Given the description of an element on the screen output the (x, y) to click on. 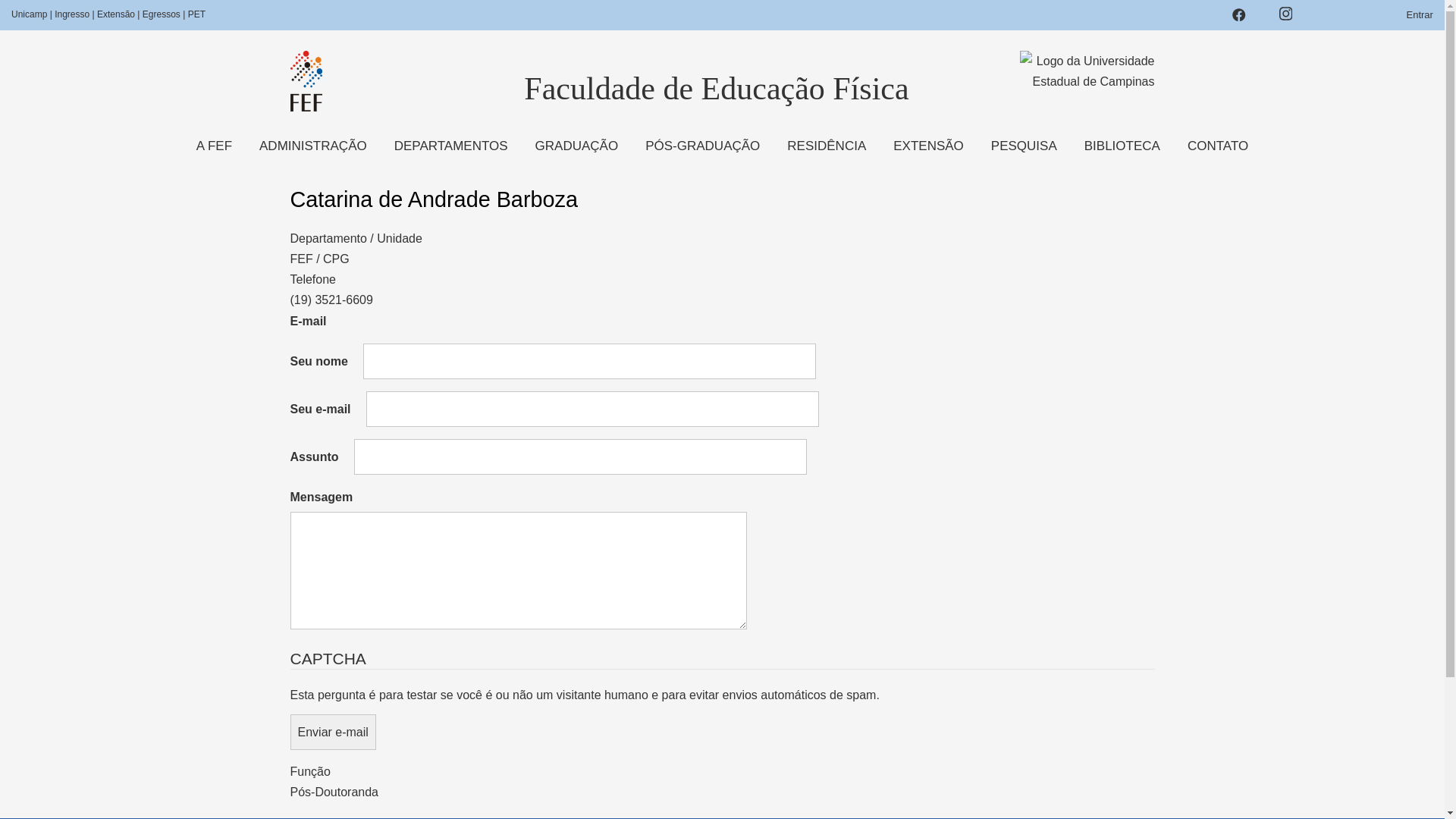
A FEF Element type: text (213, 145)
Ingresso Element type: text (71, 14)
Enviar e-mail Element type: text (332, 731)
Entrar Element type: text (1419, 14)
PESQUISA Element type: text (1023, 145)
Egressos Element type: text (161, 14)
Unicamp Element type: text (30, 14)
BIBLIOTECA Element type: text (1121, 145)
DEPARTAMENTOS Element type: text (450, 145)
PET Element type: text (196, 14)
CONTATO Element type: text (1217, 145)
